Given the description of an element on the screen output the (x, y) to click on. 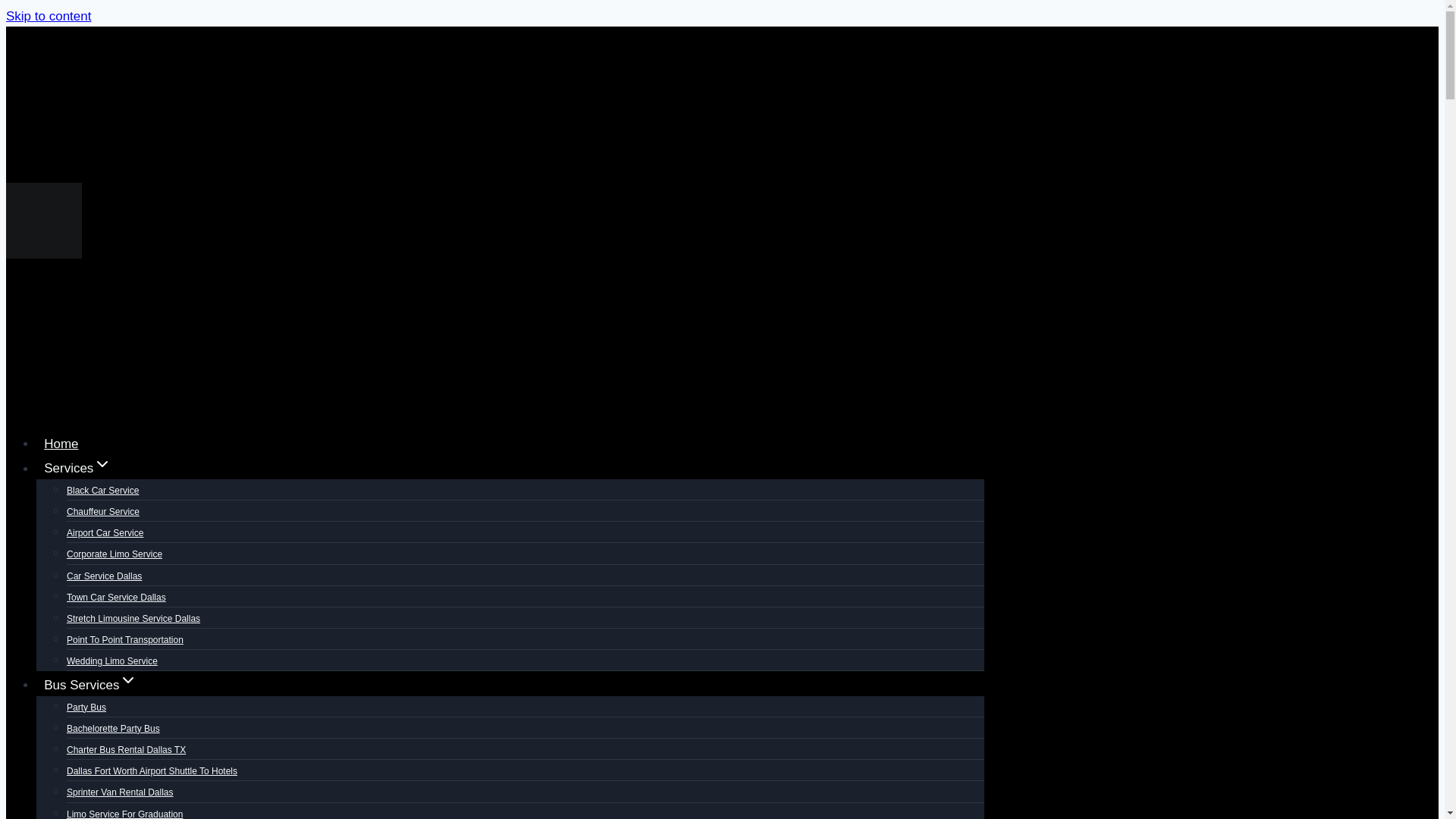
ServicesExpand (77, 468)
Sprinter Van Rental Dallas (119, 792)
Chauffeur Service (102, 511)
Charter Bus Rental Dallas TX (126, 749)
Skip to content (47, 16)
Stretch Limousine Service Dallas (133, 618)
Wedding Limo Service (111, 661)
Point To Point Transportation (124, 639)
Skip to content (47, 16)
Car Service Dallas (103, 575)
